Given the description of an element on the screen output the (x, y) to click on. 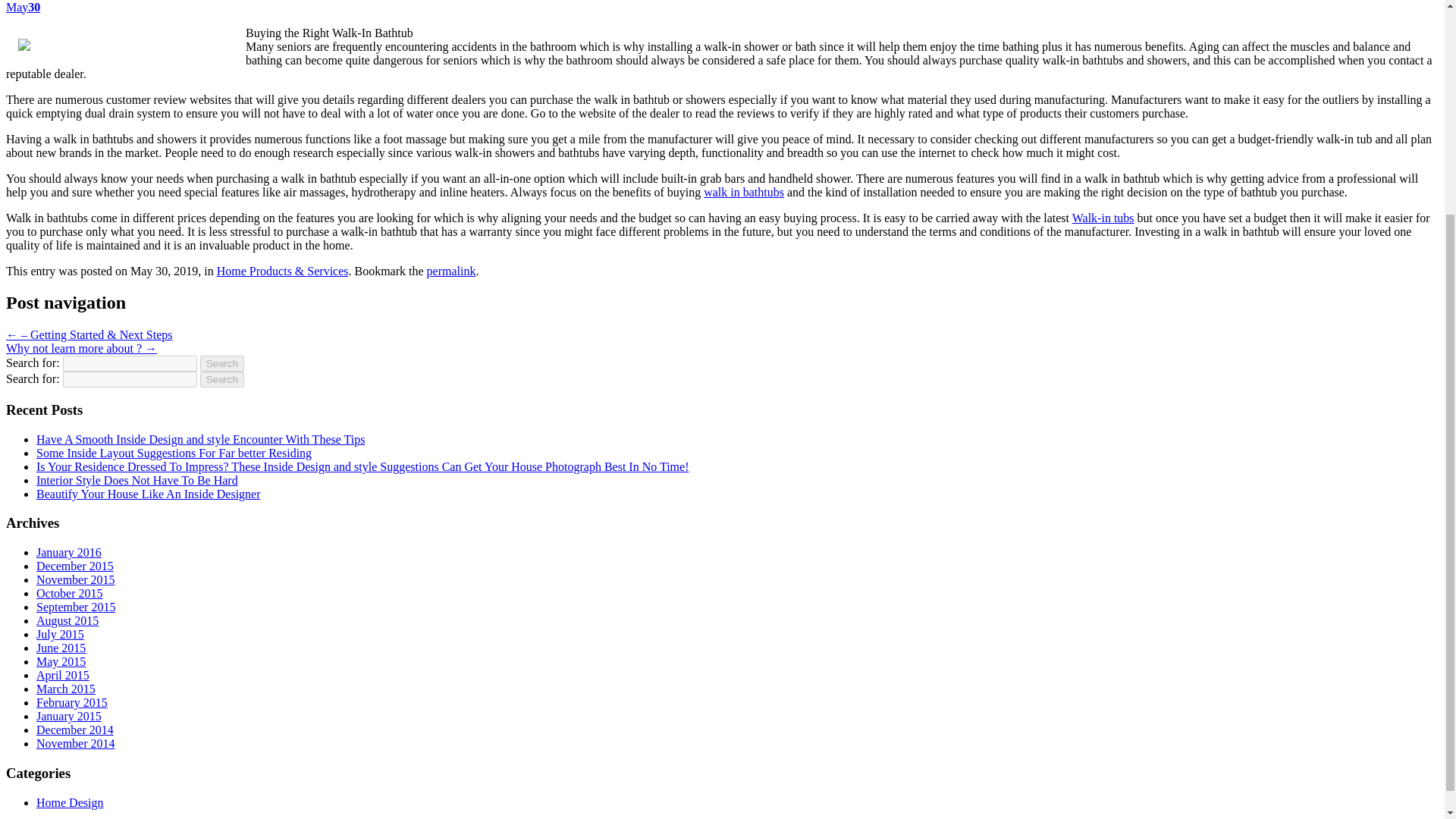
Search (222, 379)
Walk-in tubs (1102, 216)
June 2015 (60, 647)
May30 (22, 6)
October 2015 (69, 593)
September 2015 (75, 606)
May 30, 2019 (22, 6)
Search (222, 363)
January 2016 (68, 552)
Search (222, 363)
Home Design (69, 802)
Some Inside Layout Suggestions For Far better Residing (173, 452)
November 2015 (75, 579)
Search (222, 379)
